Given the description of an element on the screen output the (x, y) to click on. 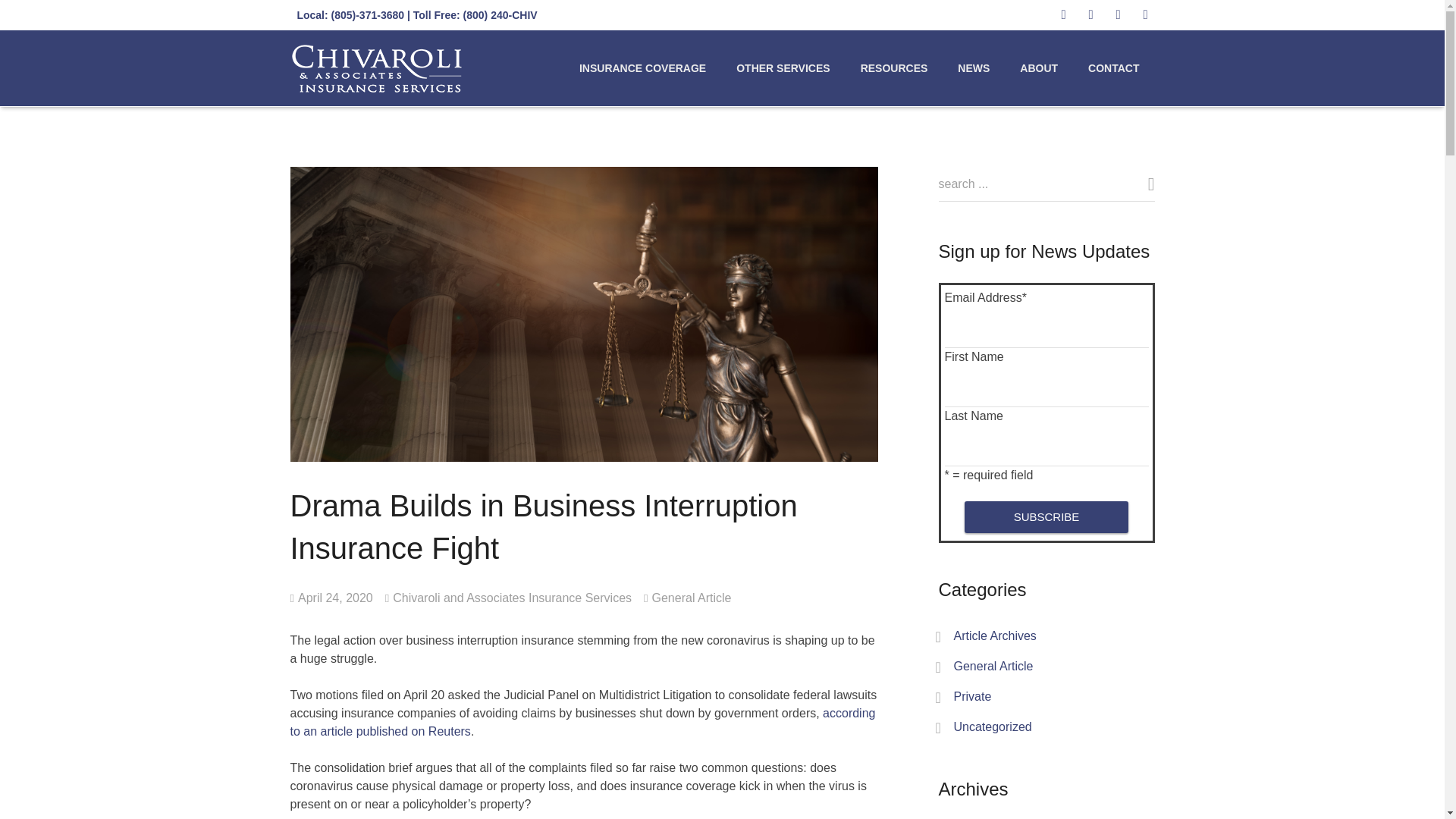
ABOUT (1038, 67)
OTHER SERVICES (782, 67)
General Article (692, 597)
Subscribe (1044, 517)
CONTACT (1113, 67)
NEWS (973, 67)
INSURANCE COVERAGE (642, 67)
RESOURCES (894, 67)
